Given the description of an element on the screen output the (x, y) to click on. 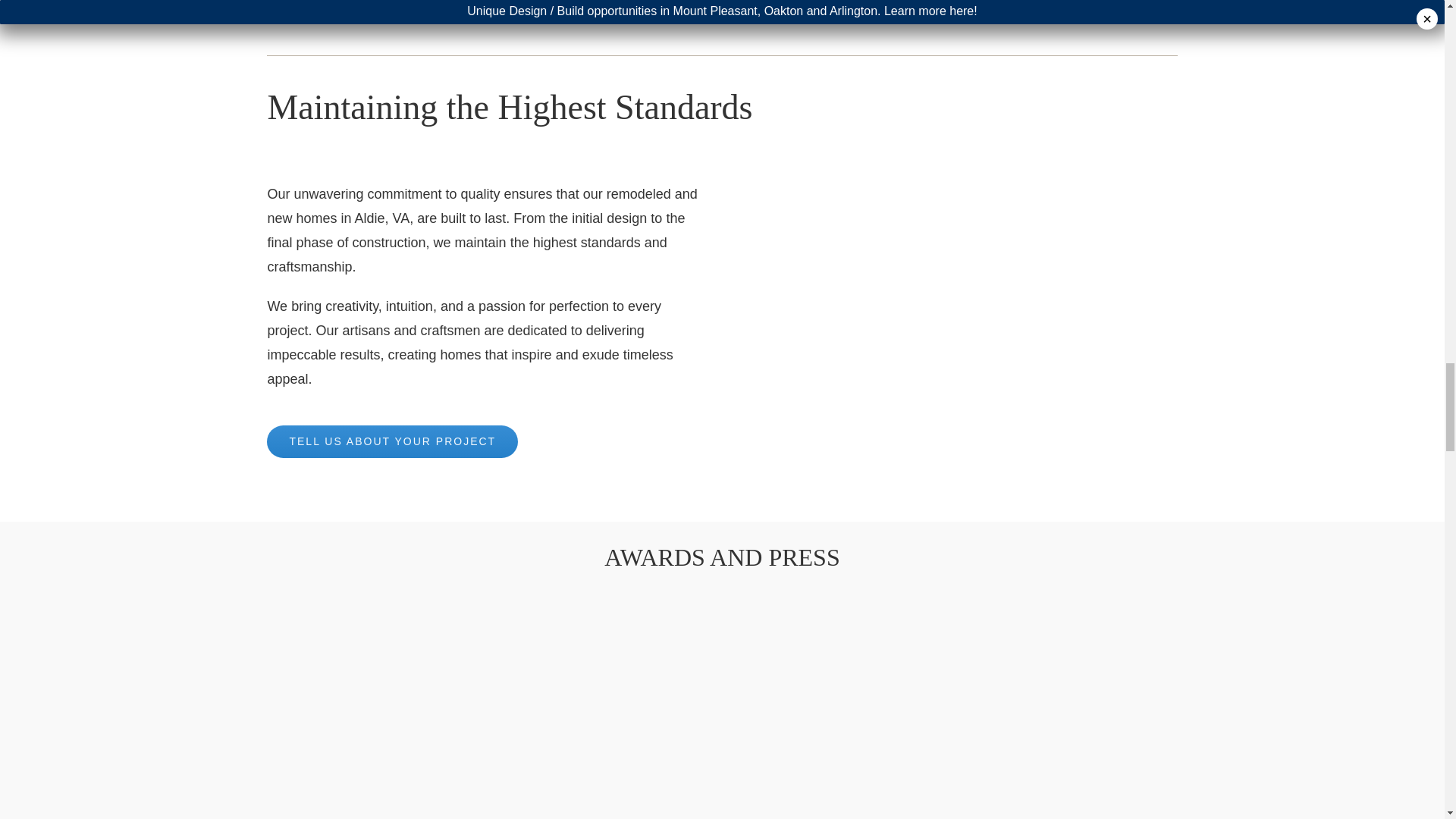
Best-of-Arl-2019 (483, 690)
Kitchen-Living-Room-View-Final-min (957, 327)
